Given the description of an element on the screen output the (x, y) to click on. 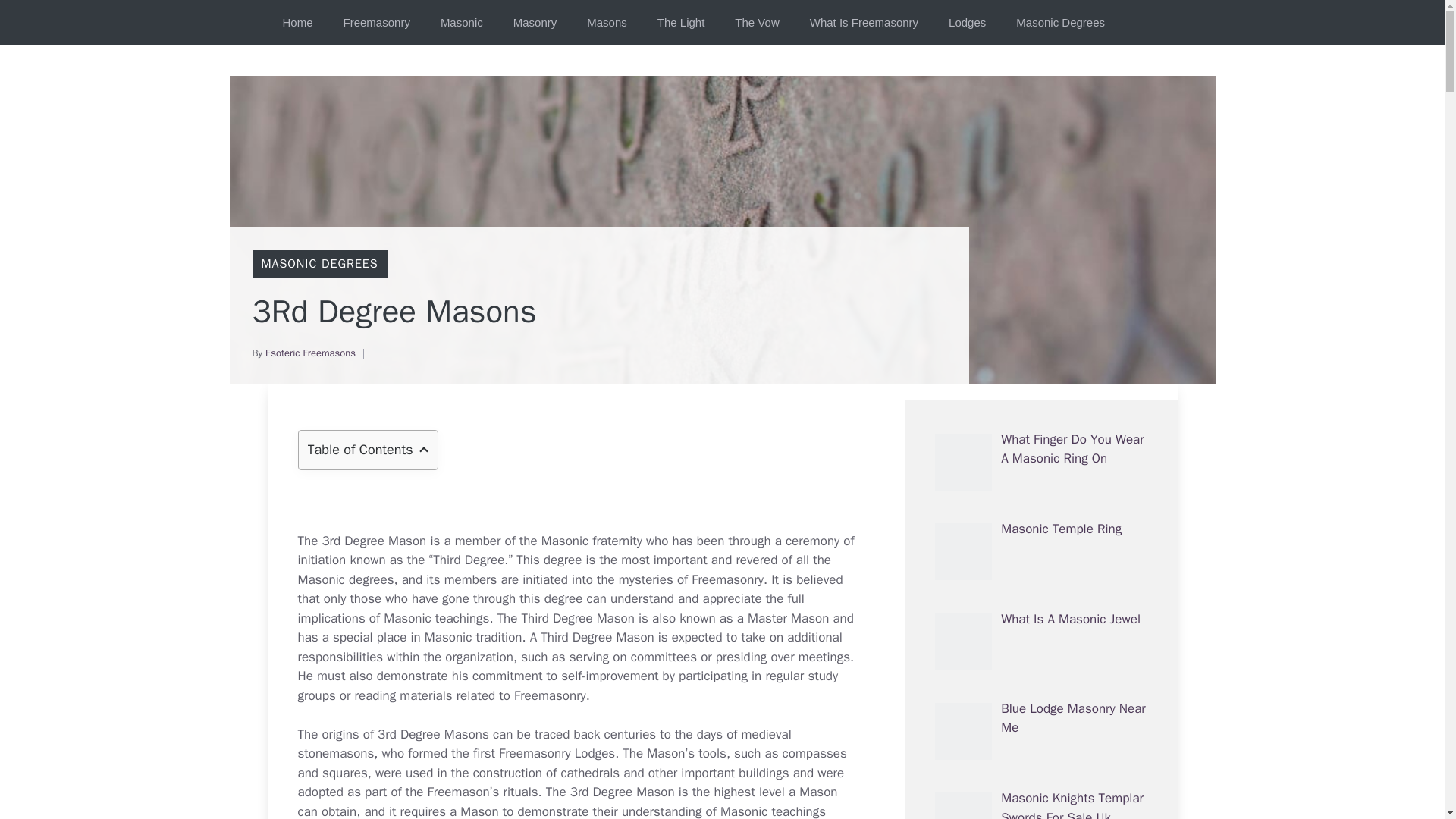
Esoteric Freemasons (309, 352)
What Is Freemasonry (863, 22)
The Light (681, 22)
Masonry (534, 22)
Masonic Degrees (1060, 22)
Freemasonry (377, 22)
Masonic (461, 22)
MASONIC DEGREES (318, 263)
The Vow (756, 22)
Home (296, 22)
